Given the description of an element on the screen output the (x, y) to click on. 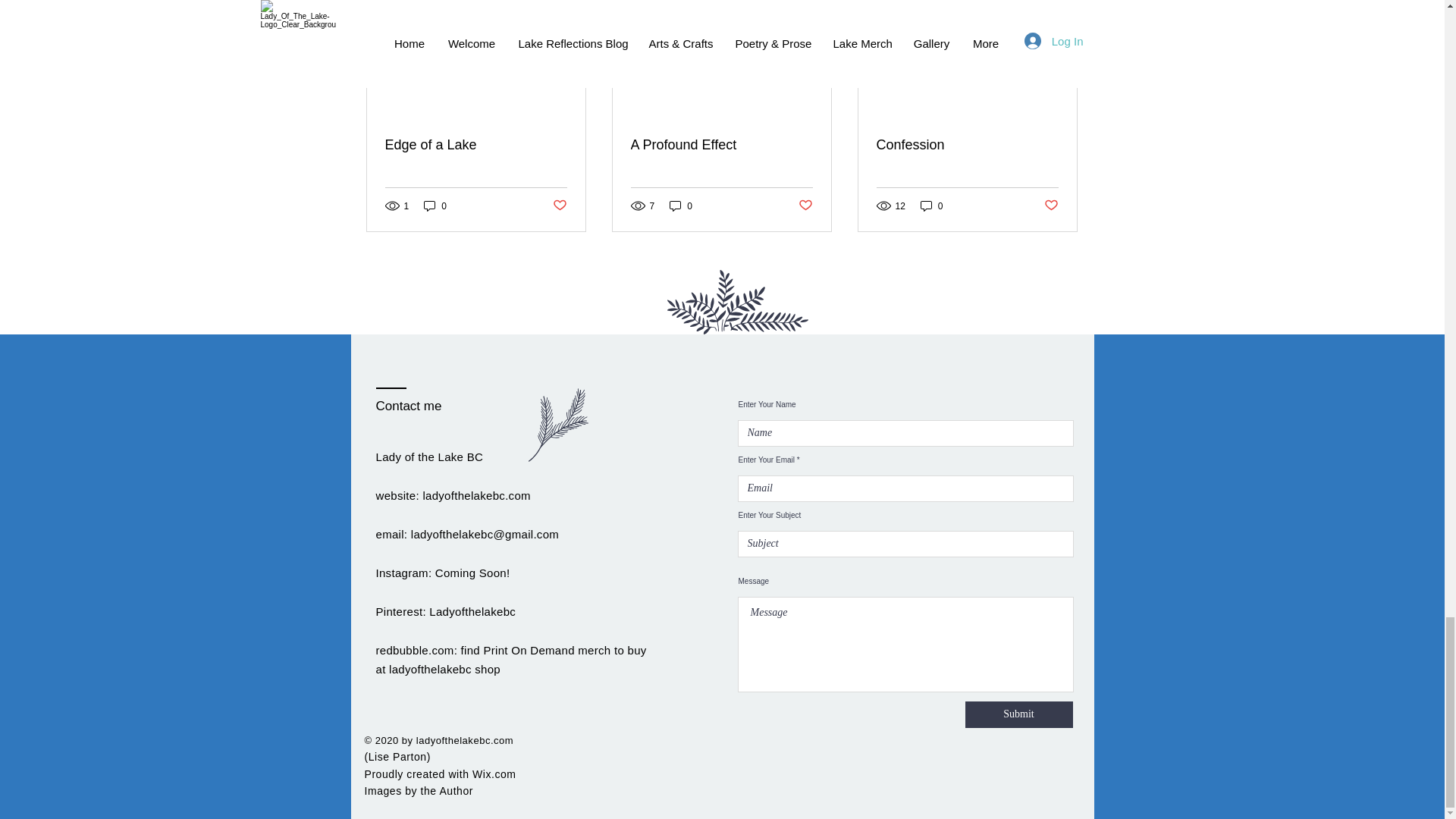
Confession (967, 145)
Edge of a Lake (476, 145)
0 (681, 205)
Submit (1017, 714)
Wix.com (493, 774)
A Profound Effect (721, 145)
Post not marked as liked (1050, 205)
Post not marked as liked (558, 205)
0 (931, 205)
0 (435, 205)
